Given the description of an element on the screen output the (x, y) to click on. 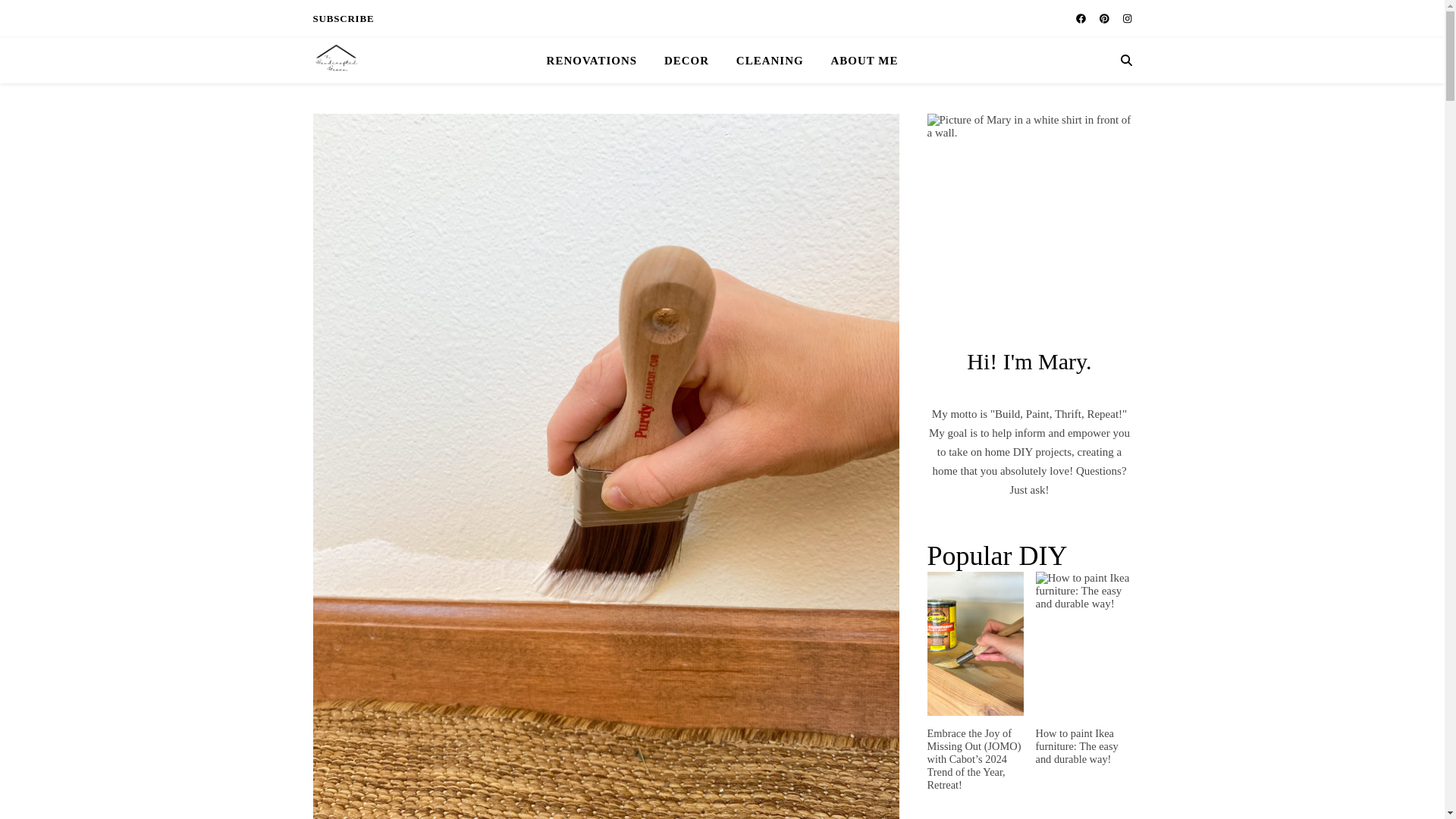
ABOUT ME (858, 60)
CLEANING (769, 60)
SUBSCRIBE (343, 18)
DECOR (686, 60)
The Handcrafted Haven (335, 60)
RENOVATIONS (598, 60)
